Given the description of an element on the screen output the (x, y) to click on. 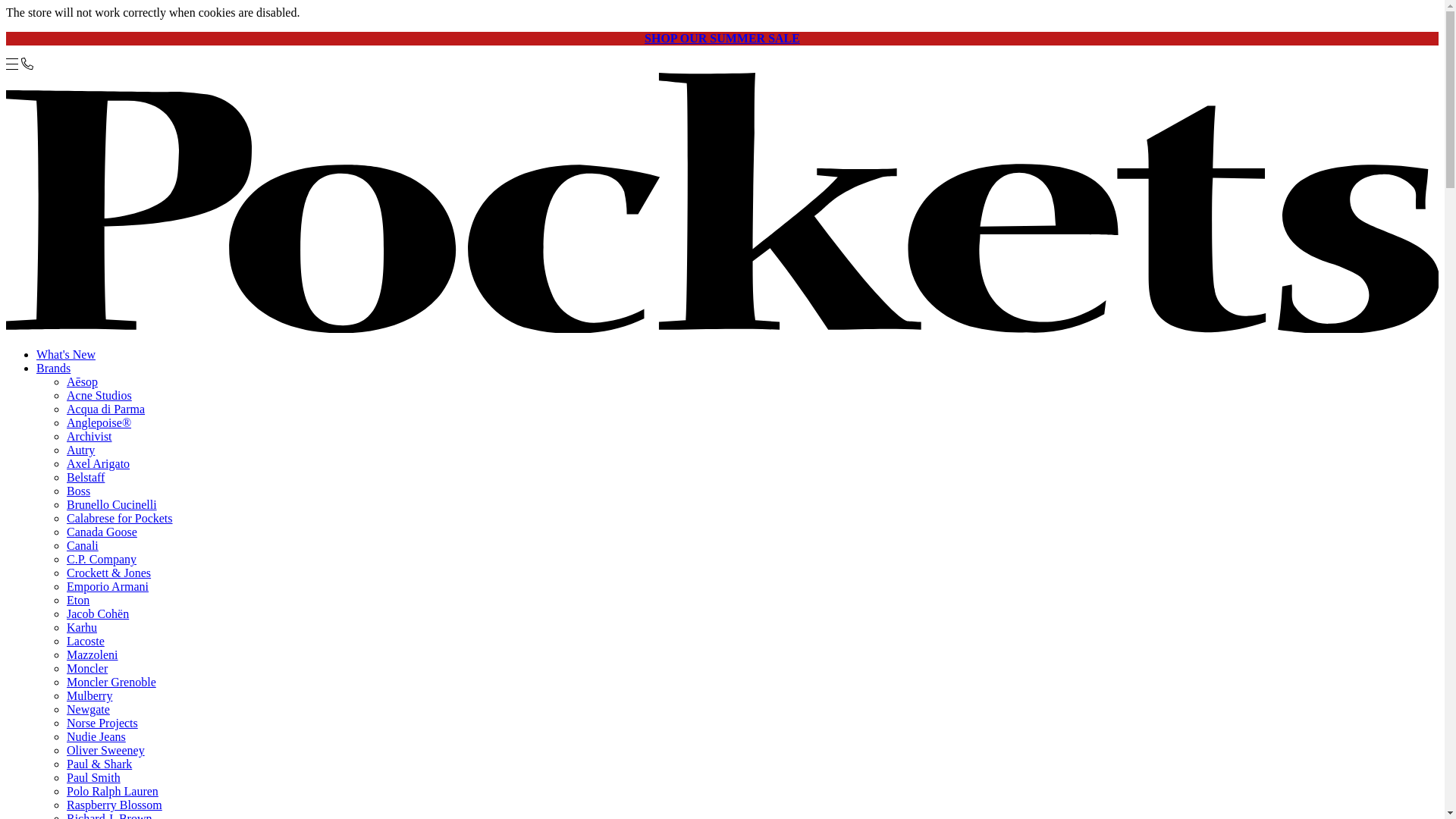
Emporio Armani (107, 585)
Calabrese for Pockets (119, 517)
Mulberry (89, 695)
Boss (78, 490)
Canada Goose (101, 531)
Karhu (81, 626)
Acne Studios (99, 395)
Polo Ralph Lauren (112, 790)
Eton (77, 599)
Mazzoleni (91, 654)
C.P. Company (101, 558)
Acne Studios (99, 395)
Autry (80, 449)
Oliver Sweeney (105, 749)
Boss (78, 490)
